Given the description of an element on the screen output the (x, y) to click on. 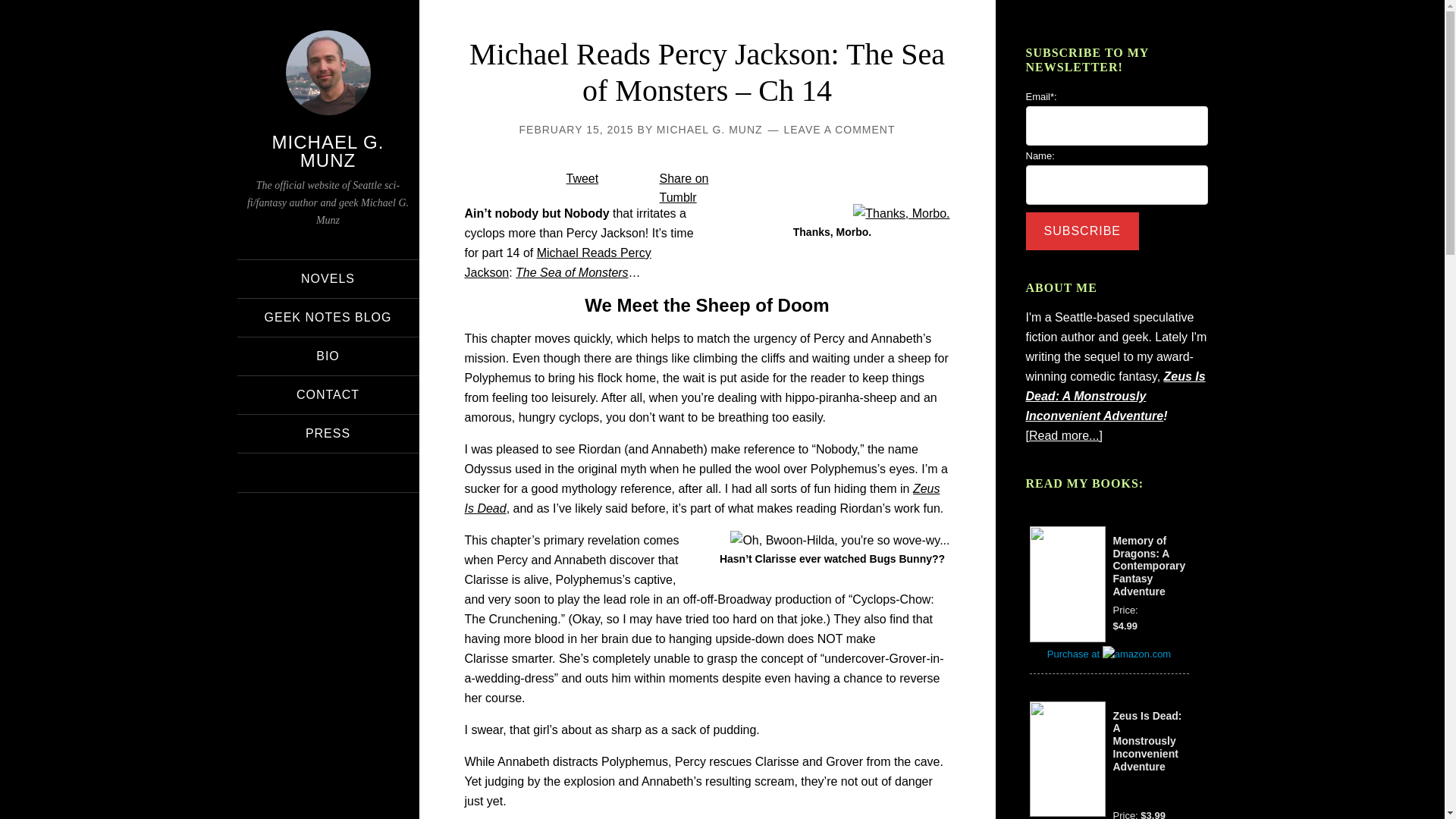
LEAVE A COMMENT (839, 129)
GEEK NOTES BLOG (327, 317)
Read about my novels! (327, 279)
Send me a message! (327, 394)
Read my blog! (327, 317)
Tweet (582, 178)
Zeus Is Dead (701, 498)
About Me (327, 356)
The Sea of Monsters (571, 272)
Share on Tumblr (684, 187)
Press Kit (327, 433)
PRESS (327, 433)
MICHAEL G. MUNZ (328, 150)
MICHAEL G. MUNZ (709, 129)
Michael Reads Percy Jackson (557, 262)
